Given the description of an element on the screen output the (x, y) to click on. 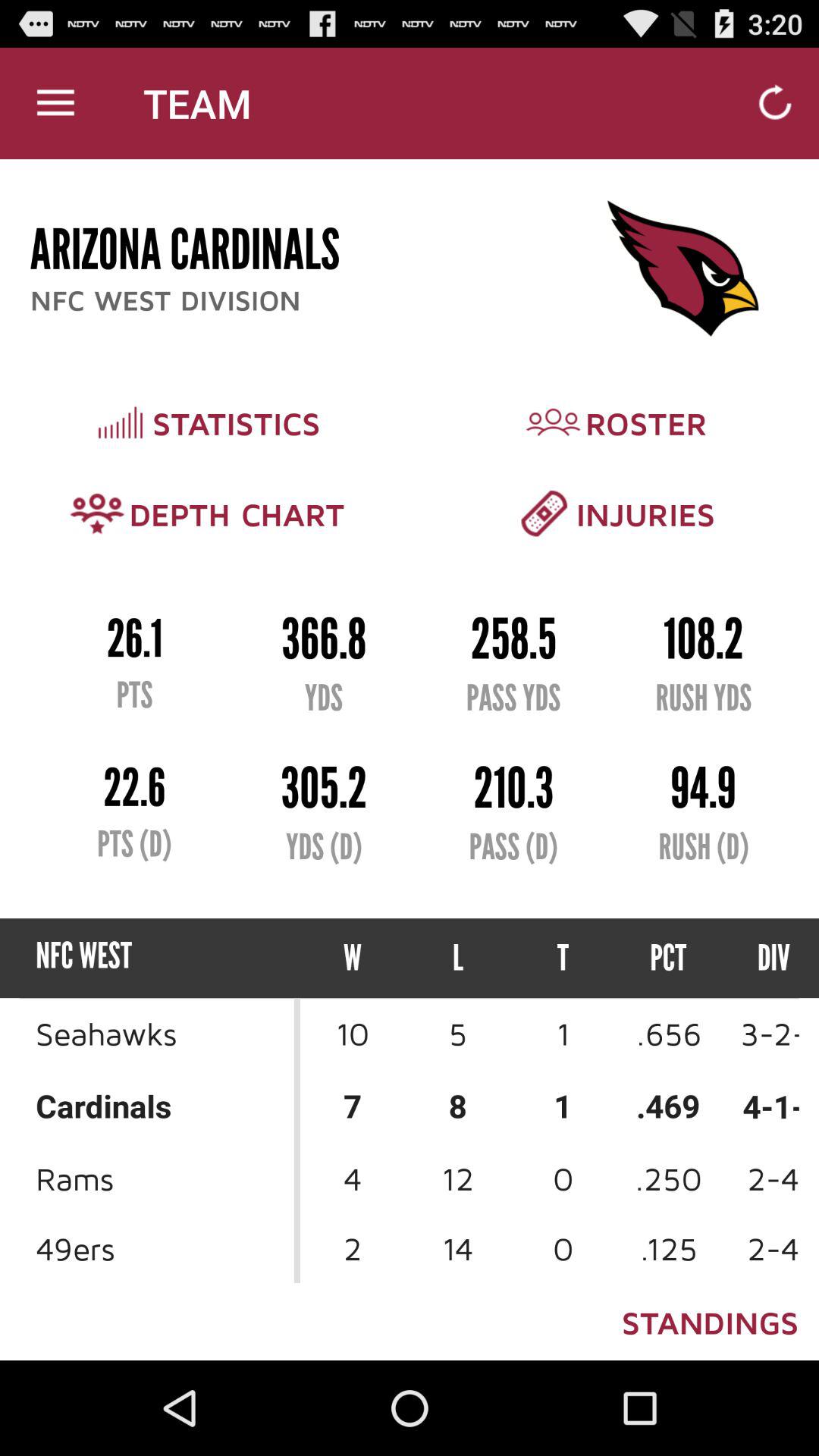
tap item next to div icon (668, 958)
